Given the description of an element on the screen output the (x, y) to click on. 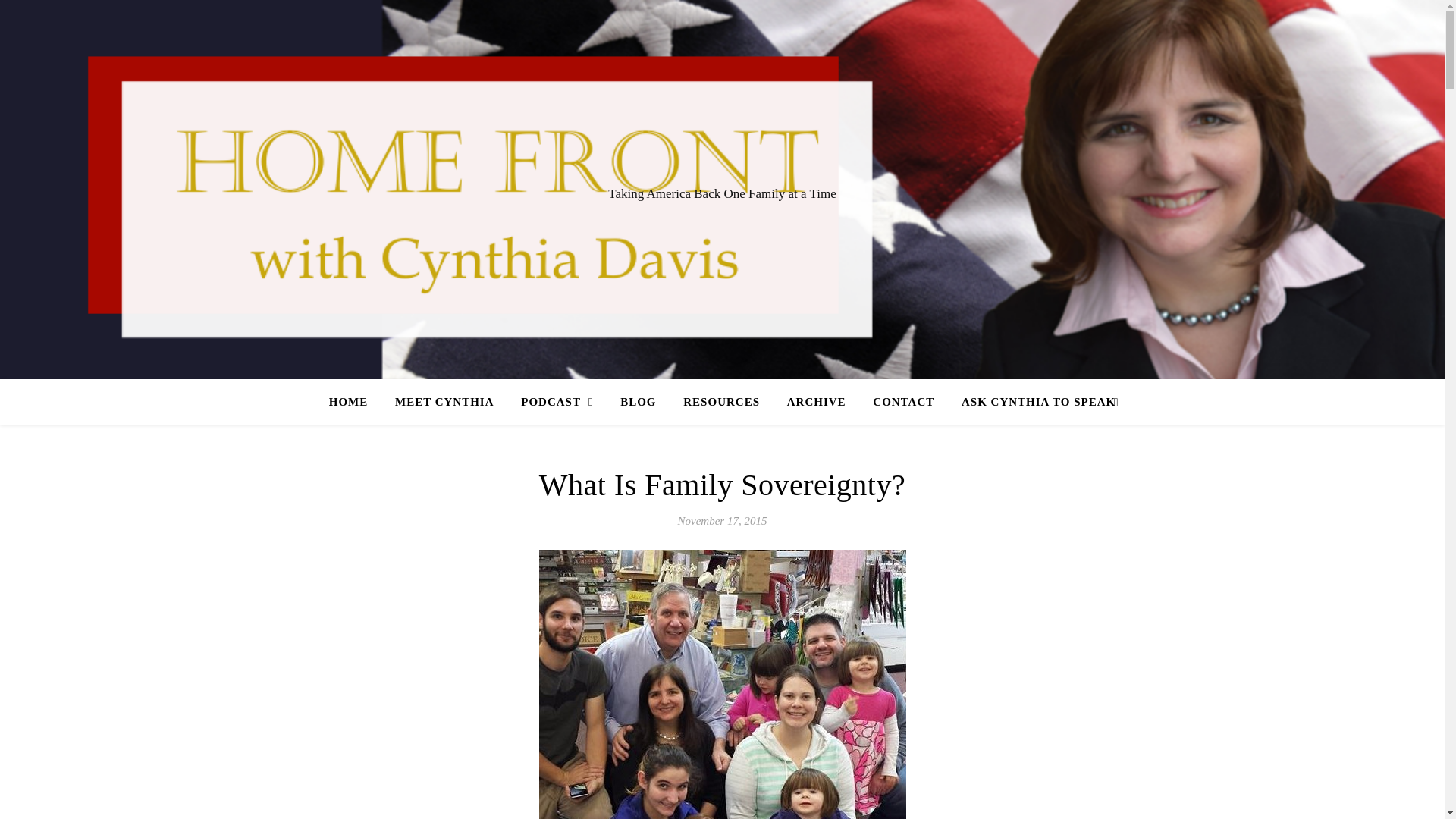
Meet Cynthia (444, 402)
Contact (903, 402)
PODCAST (556, 402)
RESOURCES (721, 402)
Archive (816, 402)
Podcast (556, 402)
BLOG (638, 402)
ARCHIVE (816, 402)
HOME (354, 402)
What Is Family Sovereignty? (721, 484)
Home (354, 402)
Ask Cynthia to Speak (1032, 402)
MEET CYNTHIA (444, 402)
CONTACT (903, 402)
Blog (638, 402)
